Given the description of an element on the screen output the (x, y) to click on. 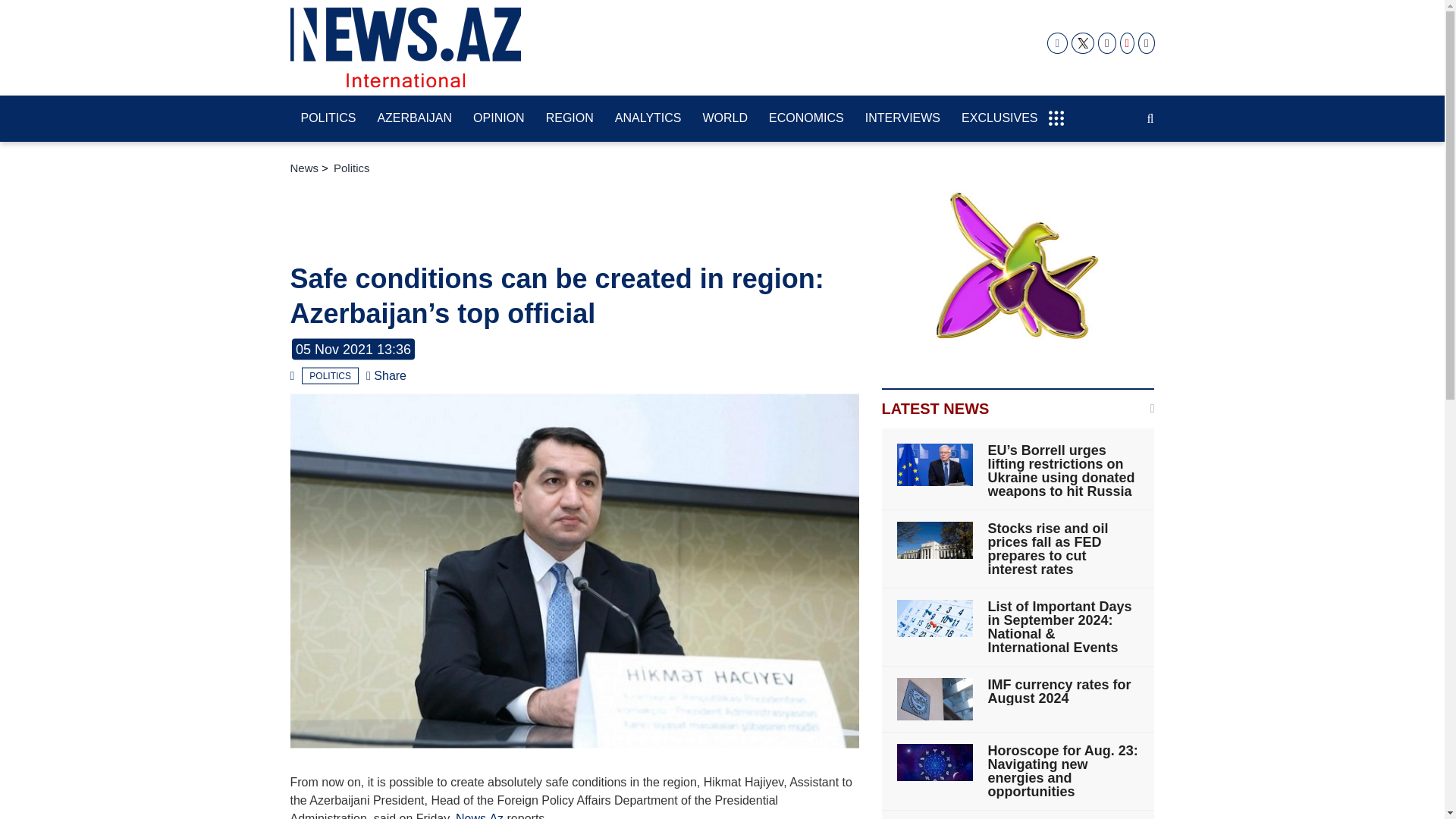
EXCLUSIVES (999, 119)
Menu (1056, 110)
Politics (329, 375)
AZERBAIJAN (414, 119)
05 Nov 2021 13:36 (352, 349)
News (303, 167)
POLITICS (329, 375)
Exclusives (999, 119)
REGION (569, 119)
News.az (404, 47)
